Given the description of an element on the screen output the (x, y) to click on. 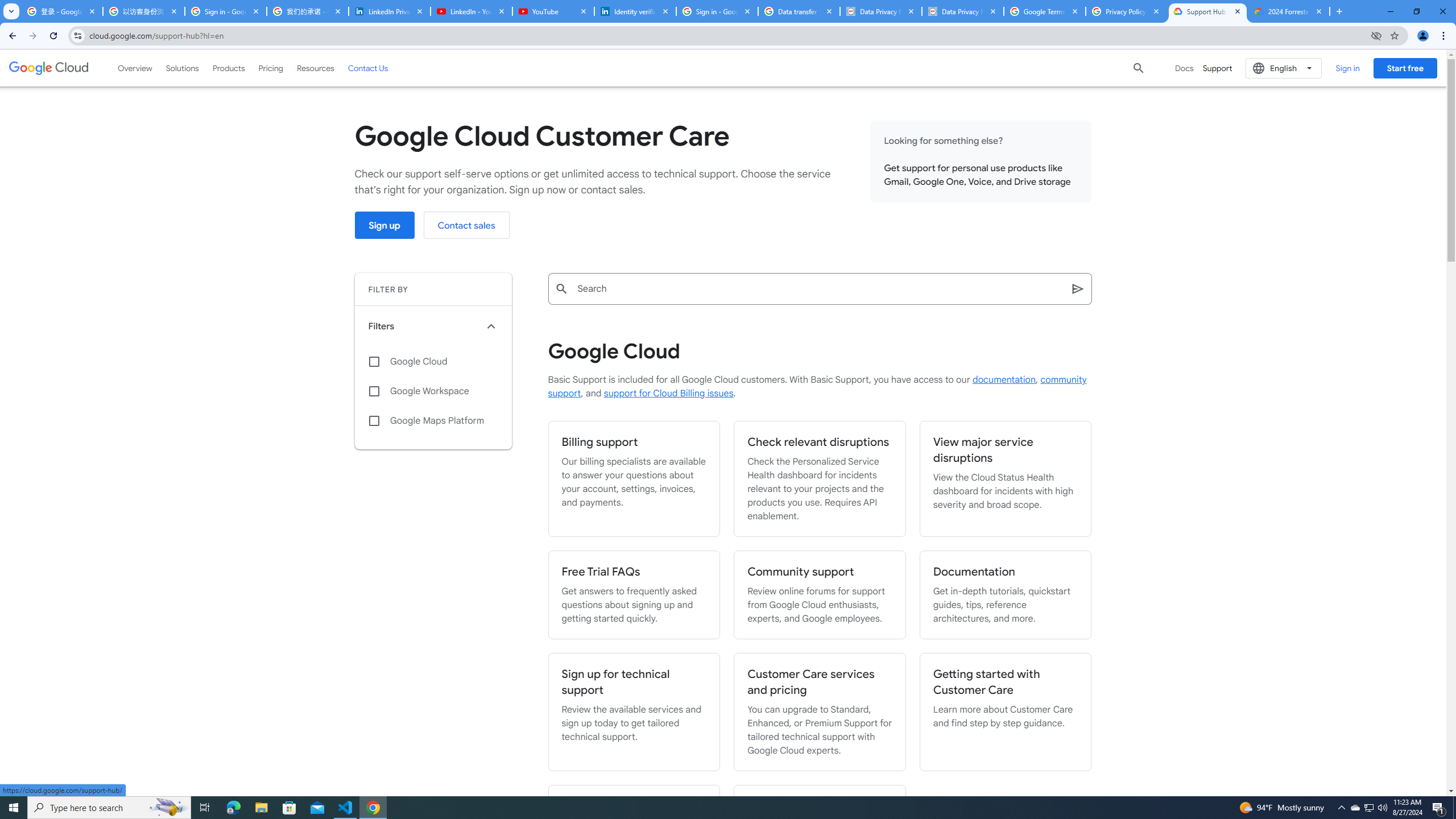
Contact sales (466, 225)
Data Privacy Framework (880, 11)
Data Privacy Framework (963, 11)
Resources (314, 67)
Google Maps Platform (432, 420)
Reload (52, 35)
Third-party cookies blocked (1376, 35)
Sign up (383, 225)
Contact Us (368, 67)
Forward (32, 35)
Minimize (1390, 11)
You (1422, 35)
